Given the description of an element on the screen output the (x, y) to click on. 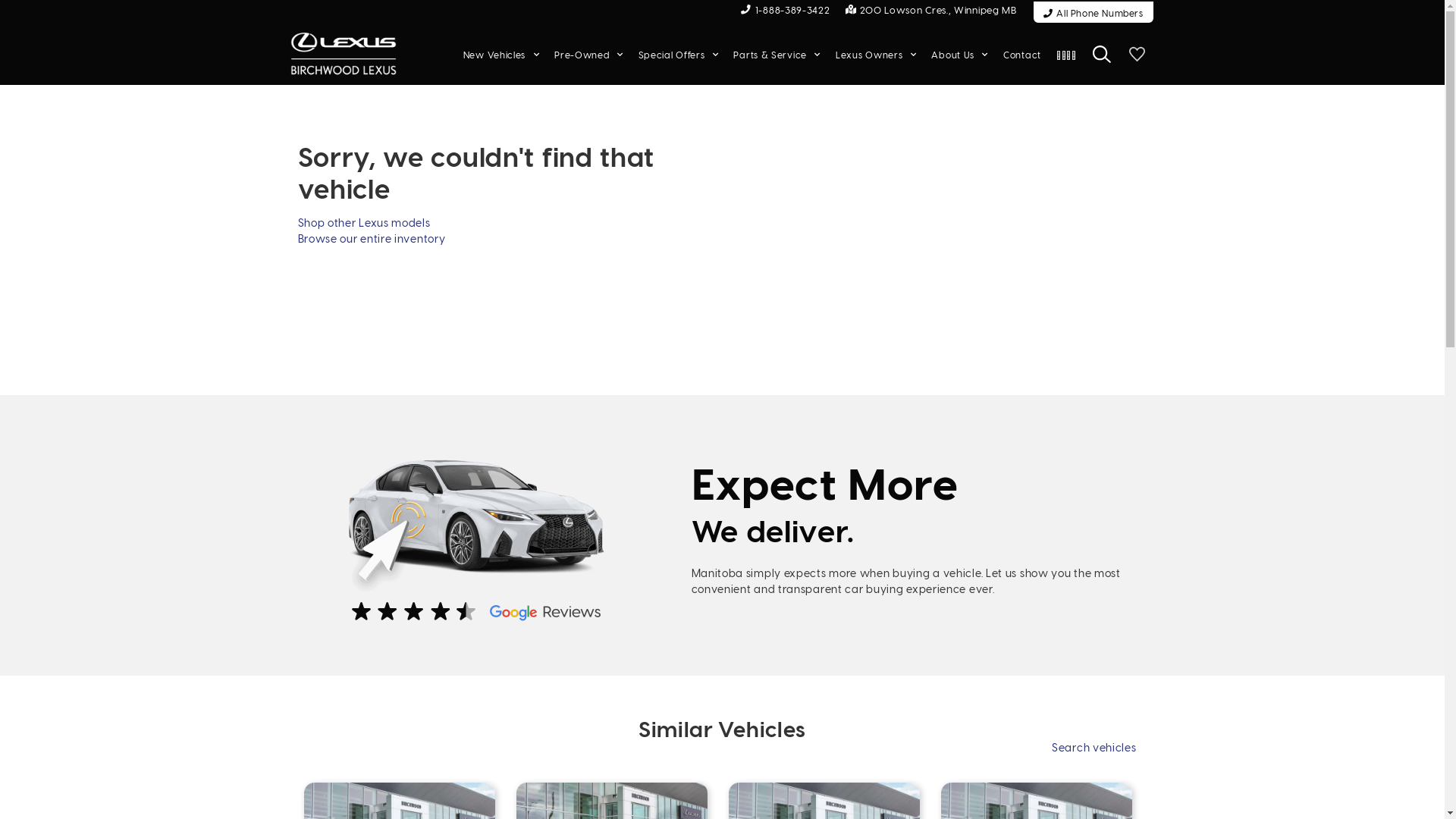
About Us Element type: text (959, 54)
Shop other Lexus models Element type: text (363, 222)
Browse our entire inventory Element type: text (371, 238)
Pre-Owned Element type: text (588, 54)
Parts & Service Element type: text (776, 54)
My Vehicles Element type: text (1136, 54)
All Phone Numbers Element type: text (1093, 12)
New Vehicles Element type: text (500, 54)
Special Offers Element type: text (678, 54)
Search vehicles Element type: text (1093, 747)
1-888-389-3422 Element type: text (785, 9)
200 Lowson Cres. Winnipeg MB Element type: text (930, 9)
Contact Element type: text (1021, 54)
Lexus Owners Element type: text (875, 54)
